Given the description of an element on the screen output the (x, y) to click on. 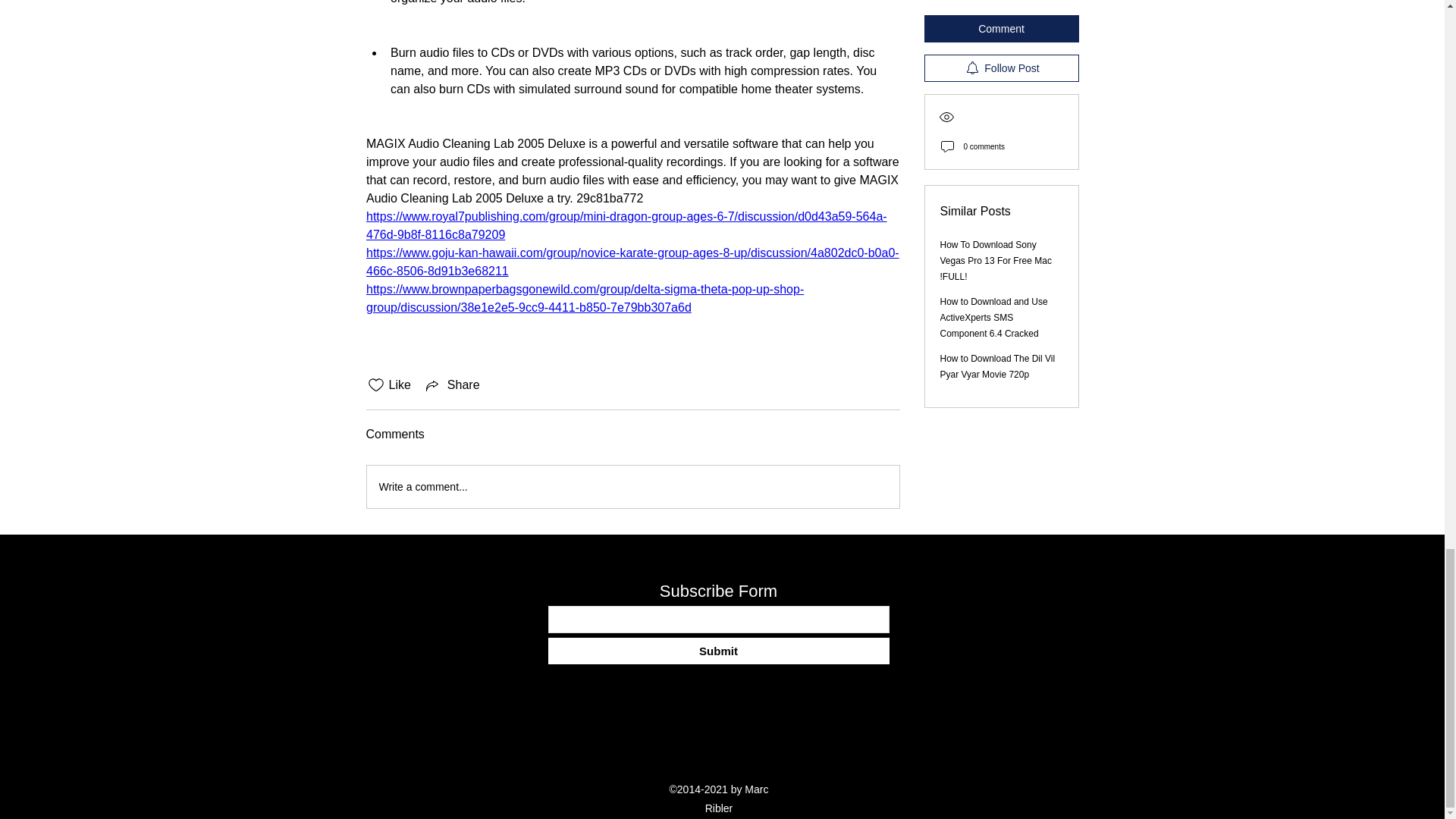
Submit (717, 651)
Write a comment... (632, 486)
Share (451, 384)
